Given the description of an element on the screen output the (x, y) to click on. 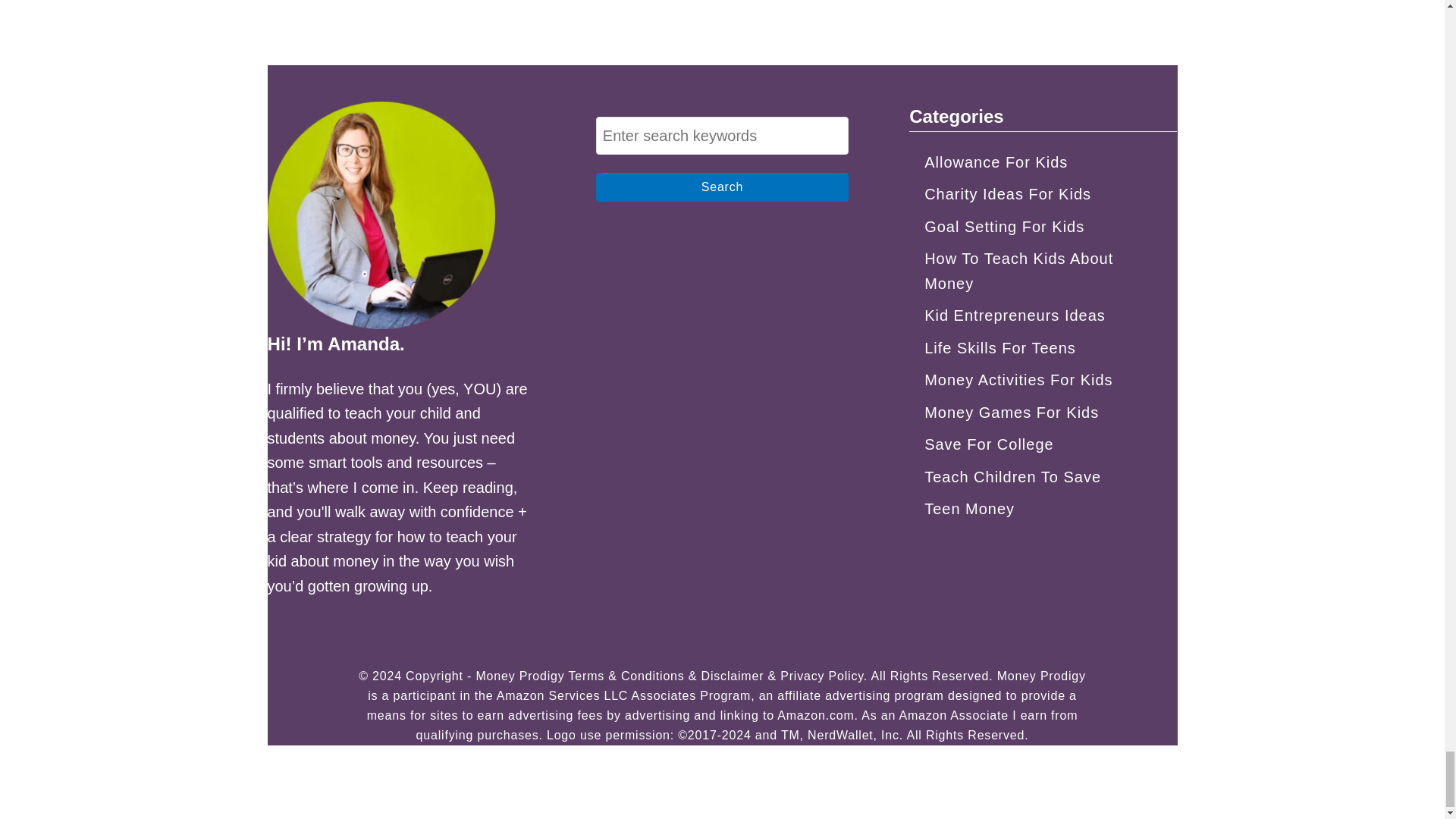
Search (721, 186)
Search (721, 186)
